Given the description of an element on the screen output the (x, y) to click on. 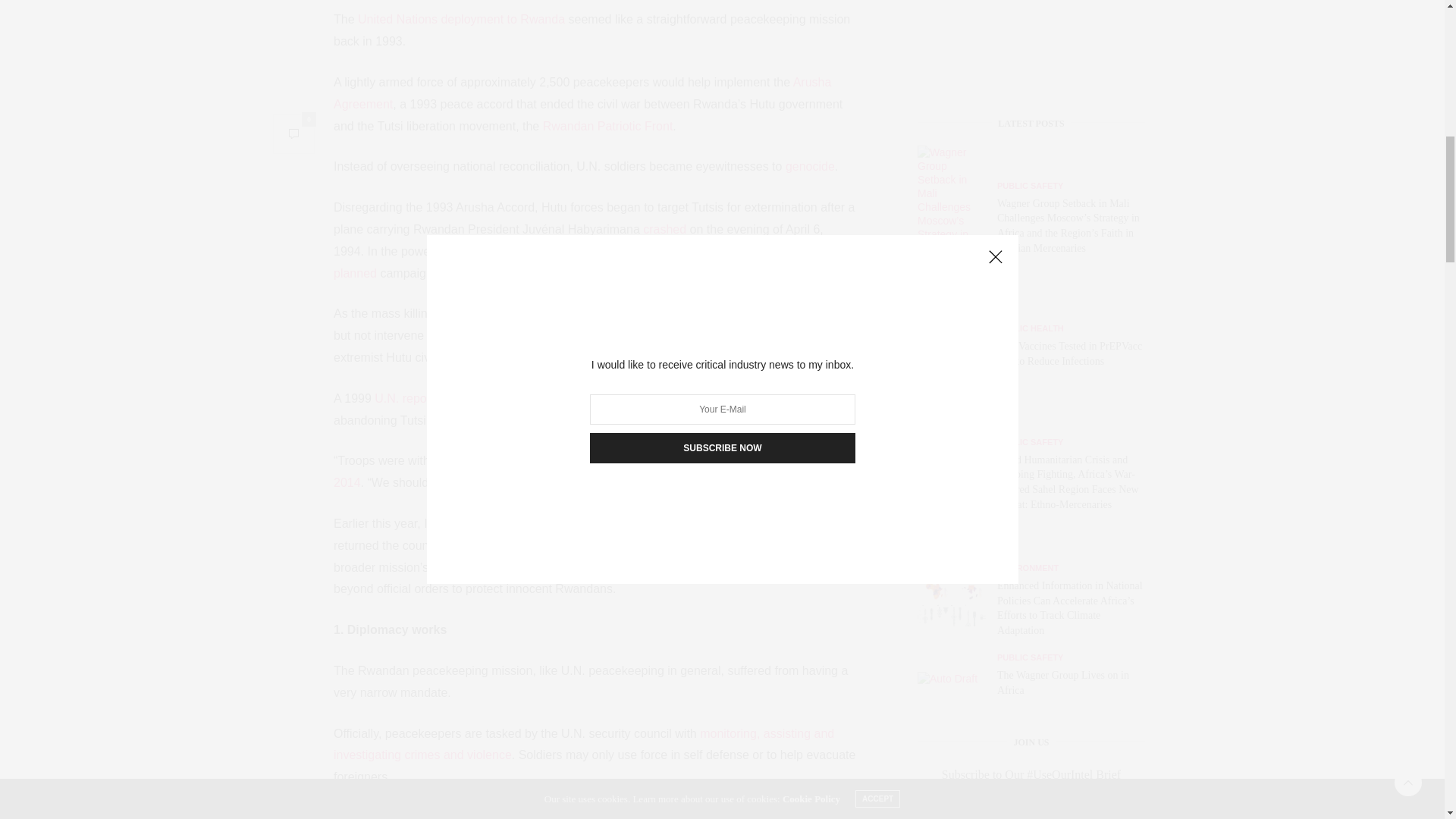
800,000 and 1 million (716, 335)
Arusha Agreement (582, 93)
crashed (664, 228)
evacuate foreigners (775, 313)
genocide (810, 165)
United Nations deployment to Rwanda (461, 19)
Rwandan Patriotic Front (607, 125)
SUBMIT (1030, 679)
SUBSCRIBE (1030, 219)
long-planned (588, 262)
